Given the description of an element on the screen output the (x, y) to click on. 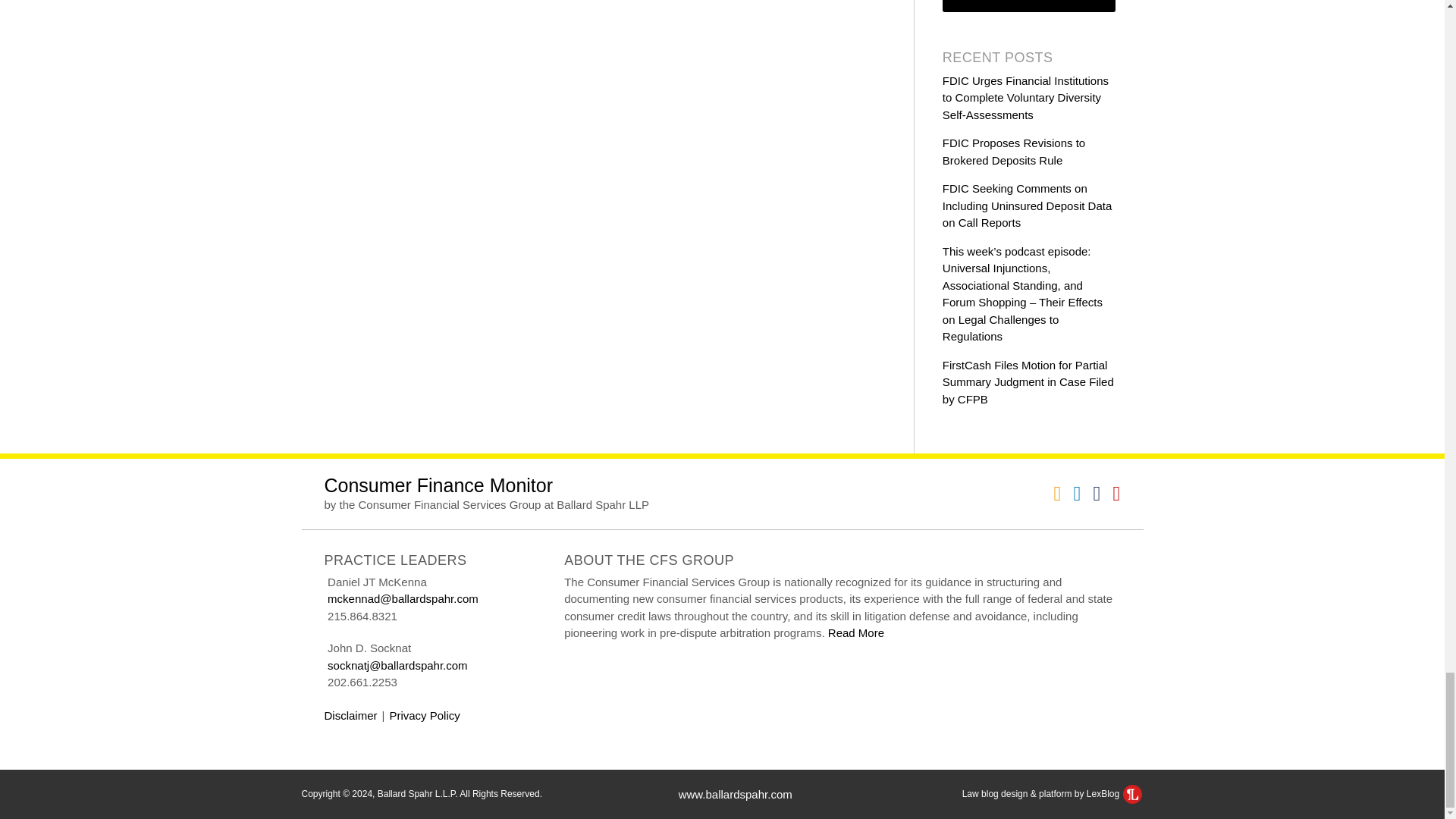
LexBlog Logo (1131, 793)
